Given the description of an element on the screen output the (x, y) to click on. 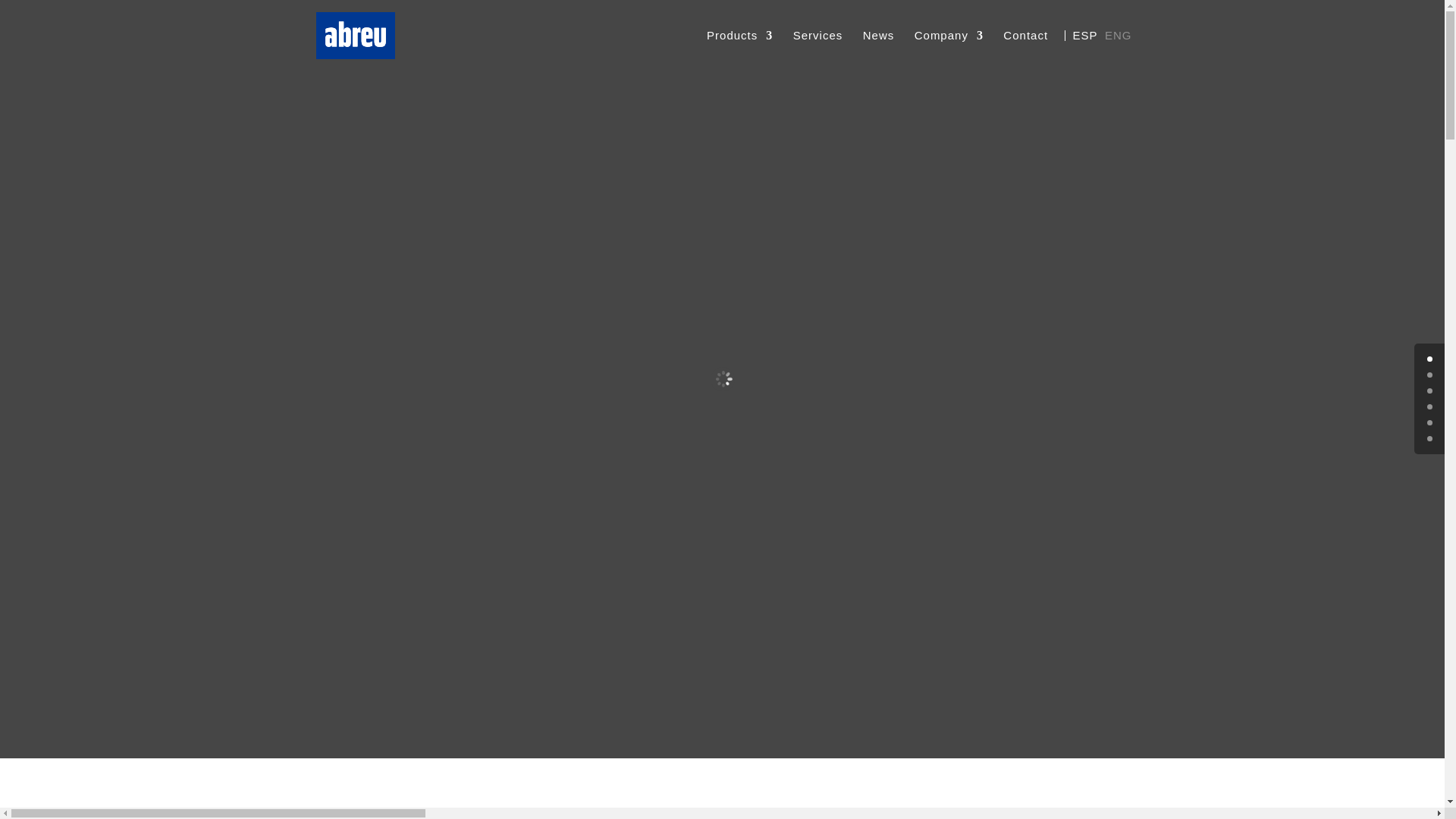
Company (949, 50)
Contact (1025, 35)
Products (739, 50)
Services (818, 50)
